Given the description of an element on the screen output the (x, y) to click on. 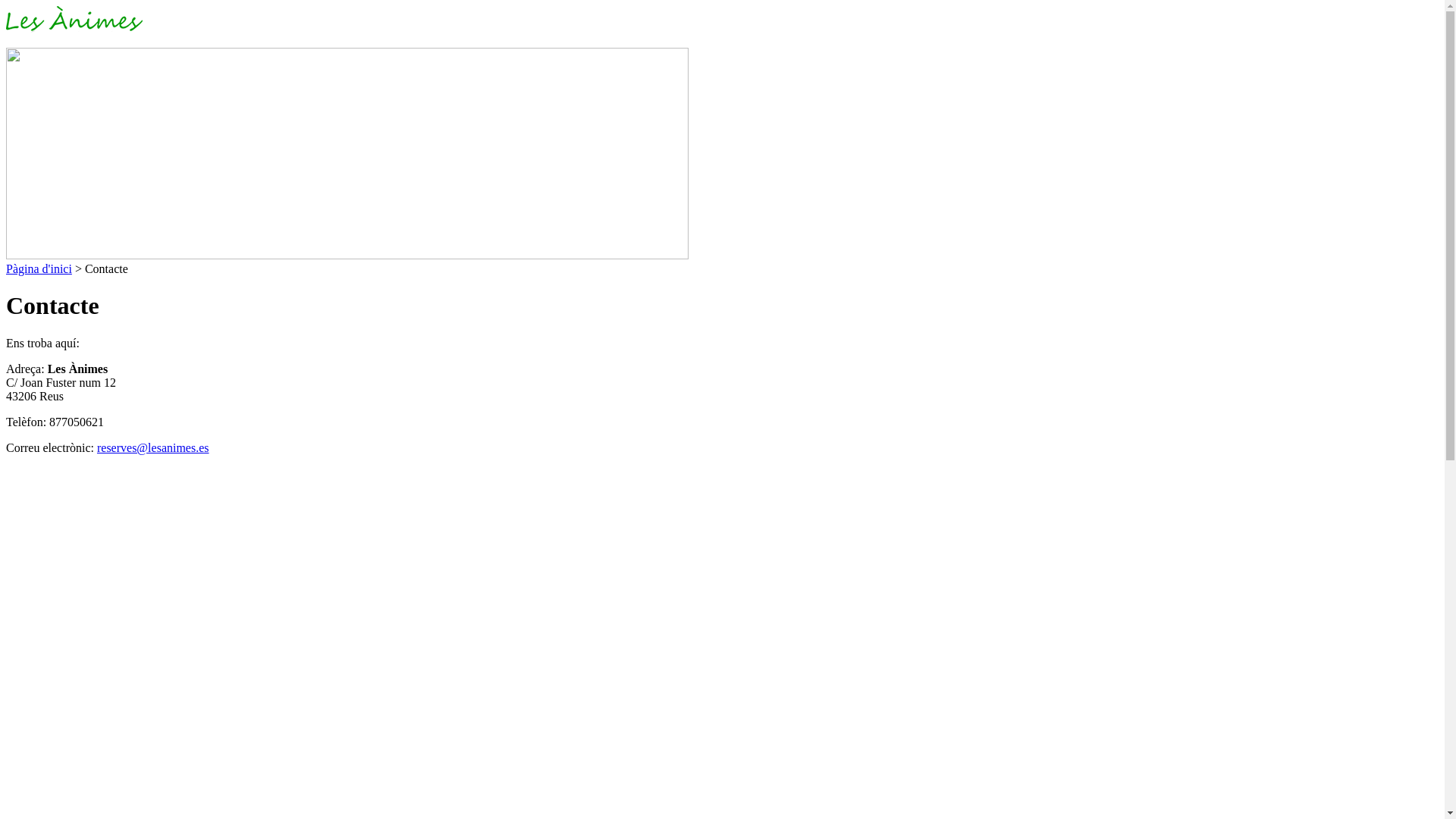
reserves@lesanimes.es Element type: text (153, 447)
